Given the description of an element on the screen output the (x, y) to click on. 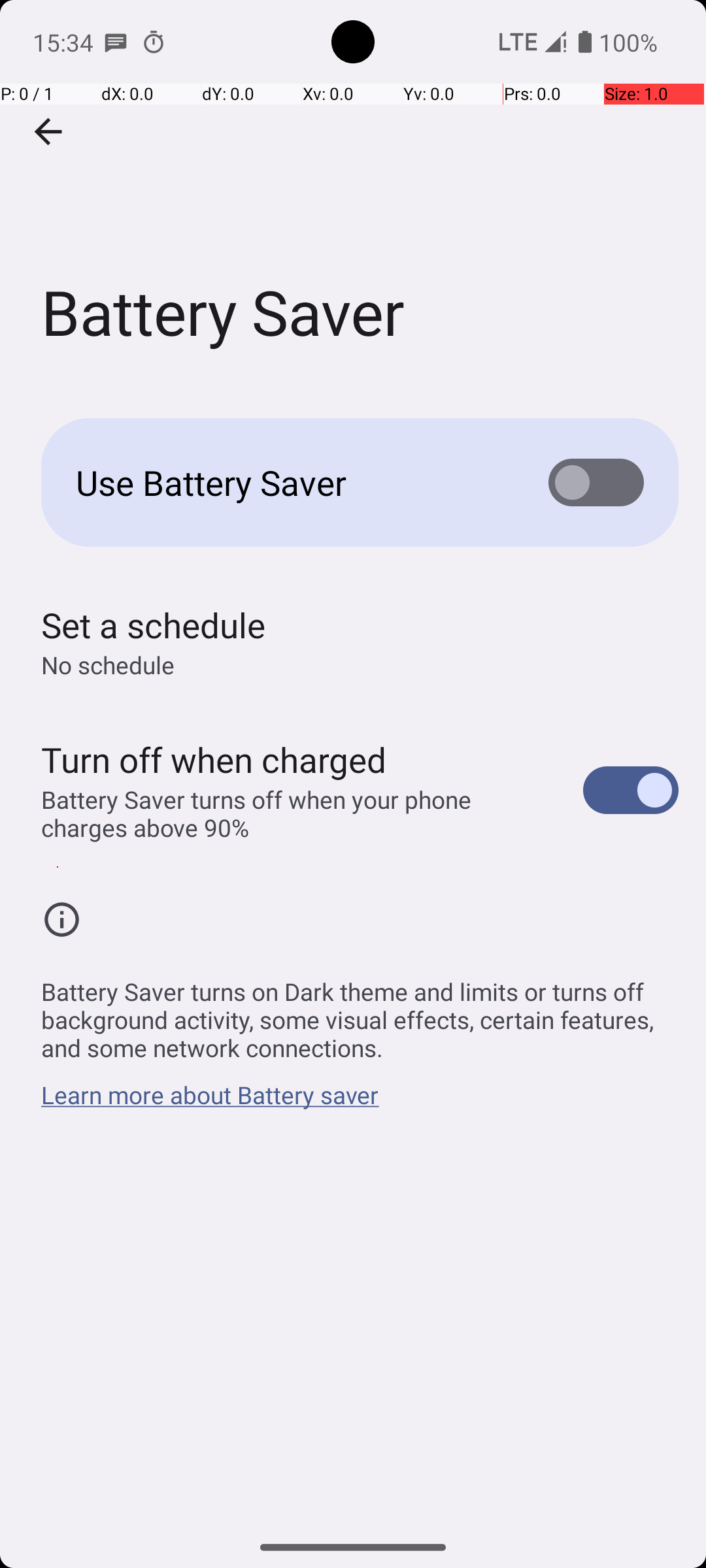
Use Battery Saver Element type: android.widget.TextView (291, 482)
Set a schedule Element type: android.widget.TextView (153, 624)
No schedule Element type: android.widget.TextView (107, 664)
Turn off when charged Element type: android.widget.TextView (213, 759)
Battery Saver turns off when your phone charges above 90% Element type: android.widget.TextView (298, 813)
Battery Saver turns on Dark theme and limits or turns off background activity, some visual effects, certain features, and some network connections. Element type: android.widget.TextView (359, 1012)
Learn more about Battery saver Element type: android.widget.TextView (210, 1101)
